Given the description of an element on the screen output the (x, y) to click on. 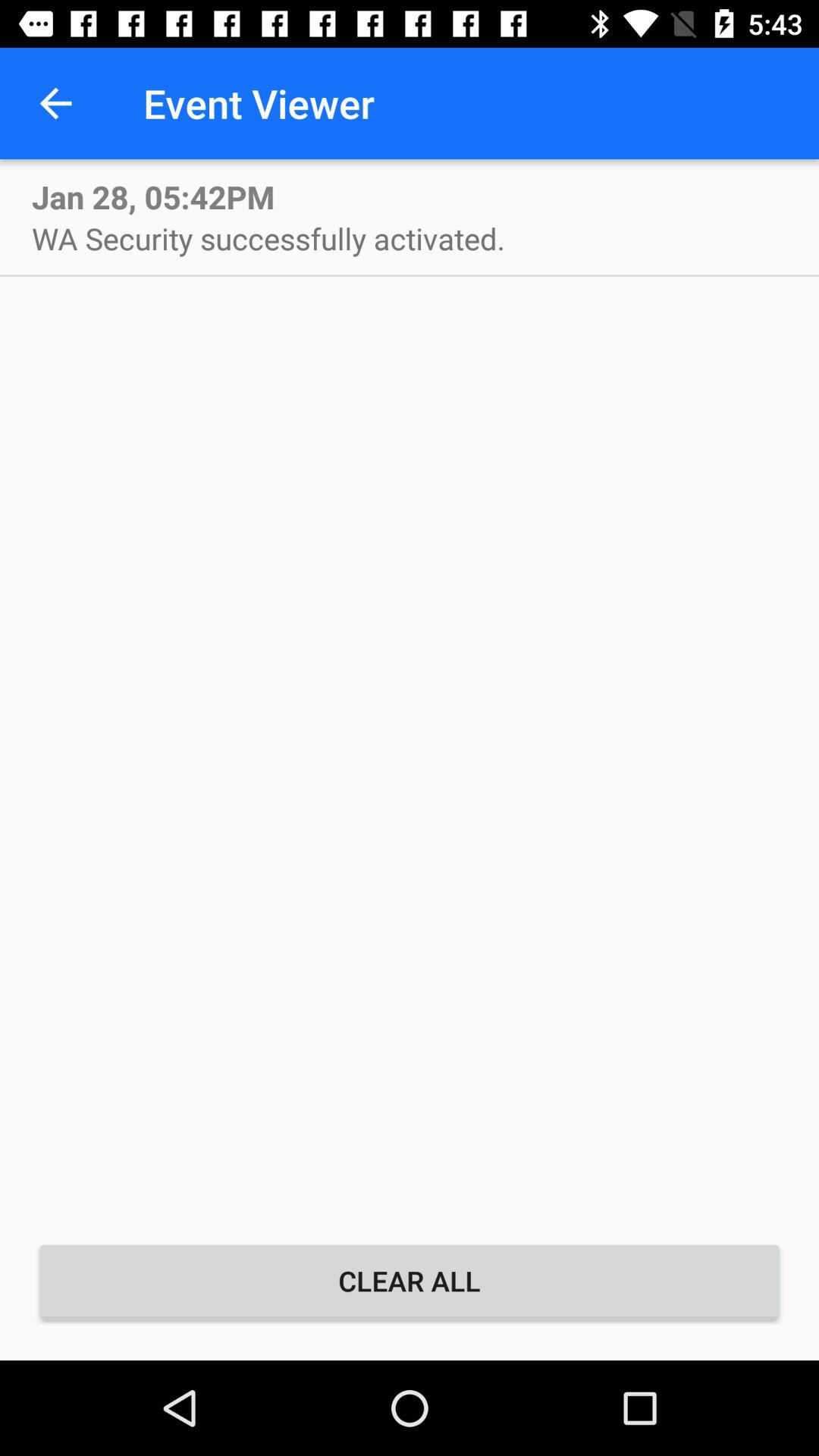
open the wa security successfully icon (268, 238)
